Given the description of an element on the screen output the (x, y) to click on. 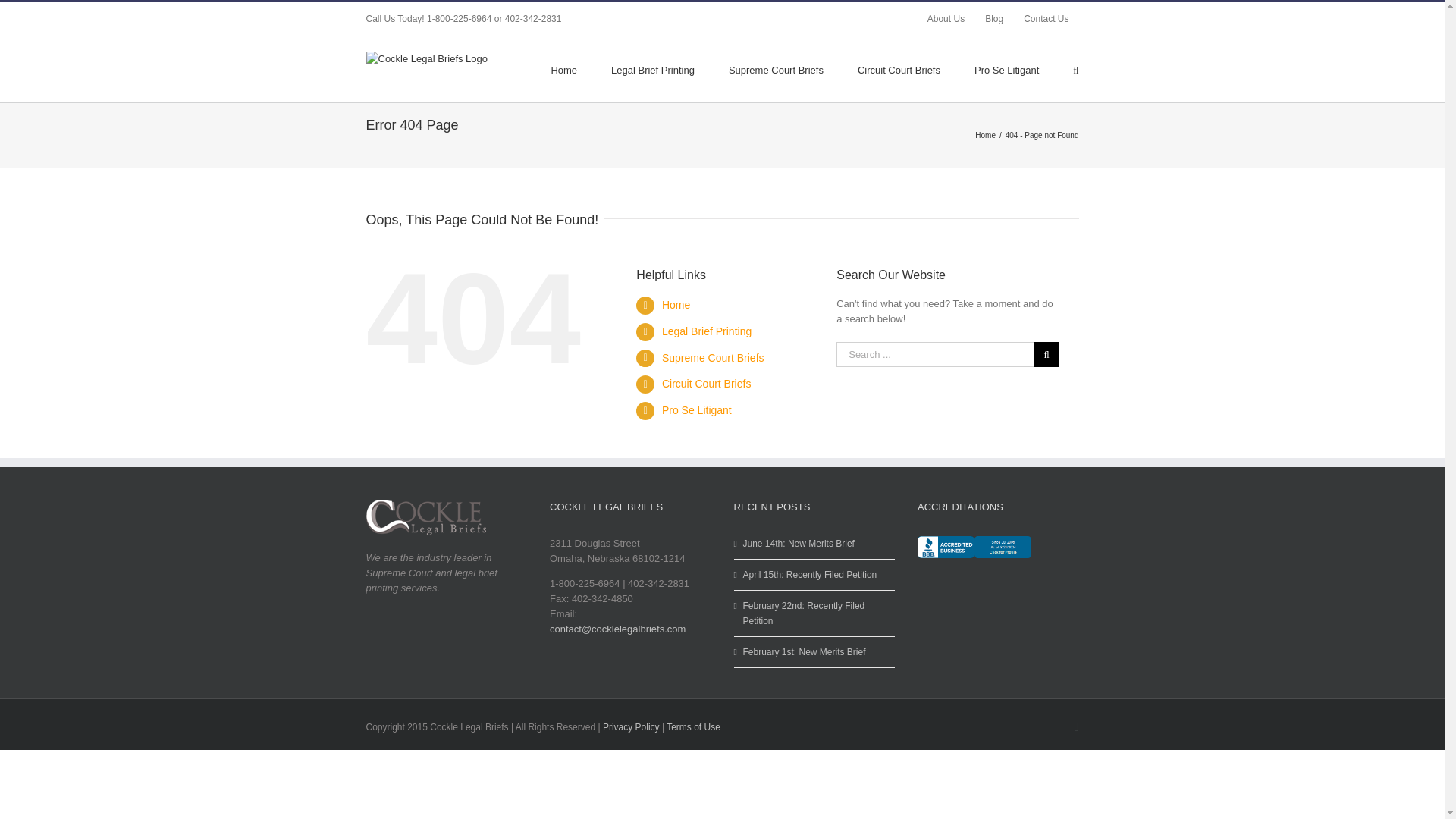
Home (985, 134)
Circuit Court Briefs (898, 68)
Blog (994, 19)
Contact Us (1045, 19)
About Us (945, 19)
Pro Se Litigant (1006, 68)
Legal Brief Printing (652, 68)
Cockle Legal Briefs, Legal Document Assistance, Omaha, NE (973, 557)
Supreme Court Briefs (776, 68)
